Given the description of an element on the screen output the (x, y) to click on. 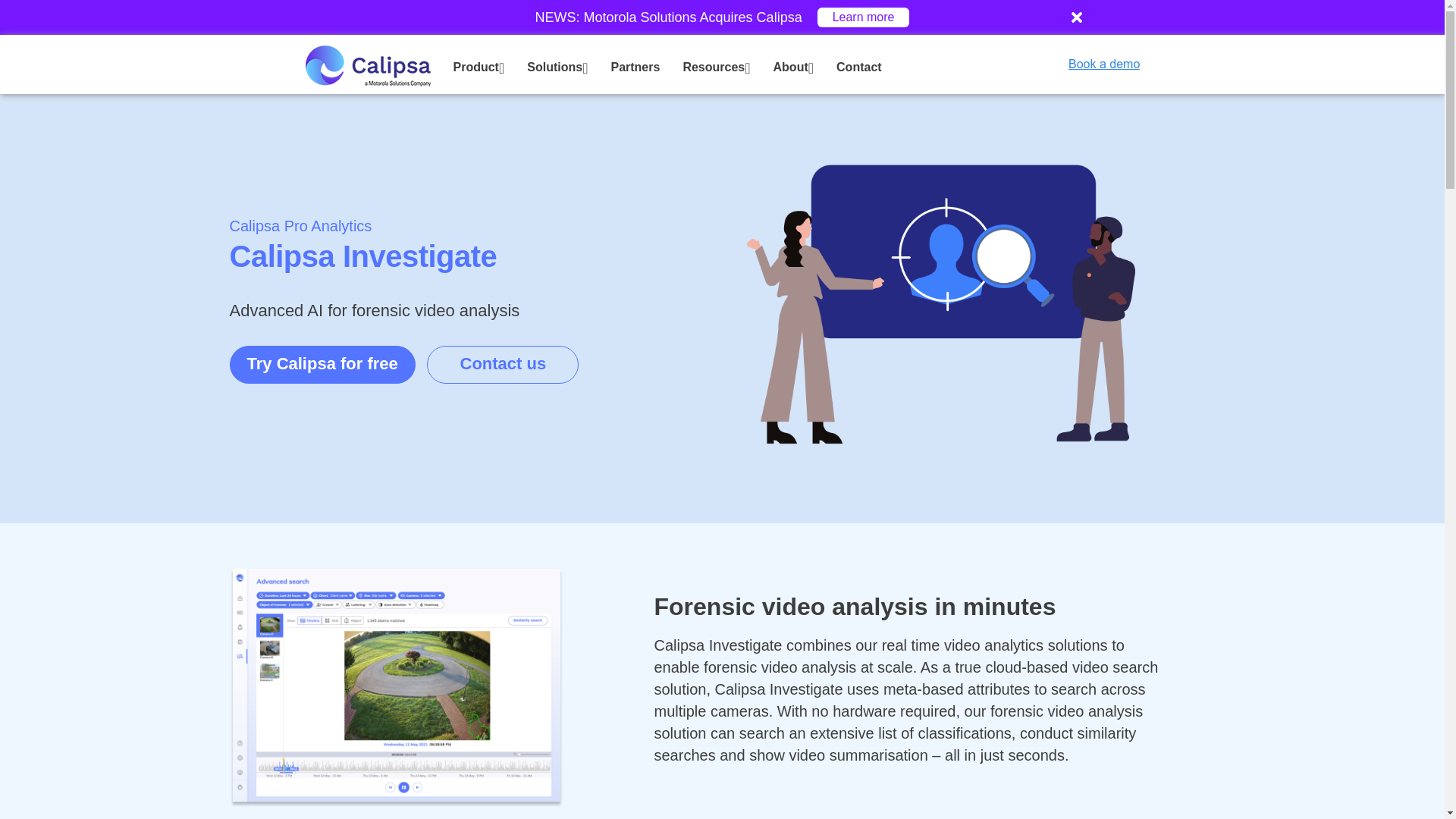
Contact us (502, 364)
Partners (634, 66)
Learn more (863, 17)
Contact (858, 66)
Solutions (557, 66)
About (793, 66)
Page 4 (911, 700)
Product (478, 66)
Try Calipsa for free (321, 364)
Resources (715, 66)
